Given the description of an element on the screen output the (x, y) to click on. 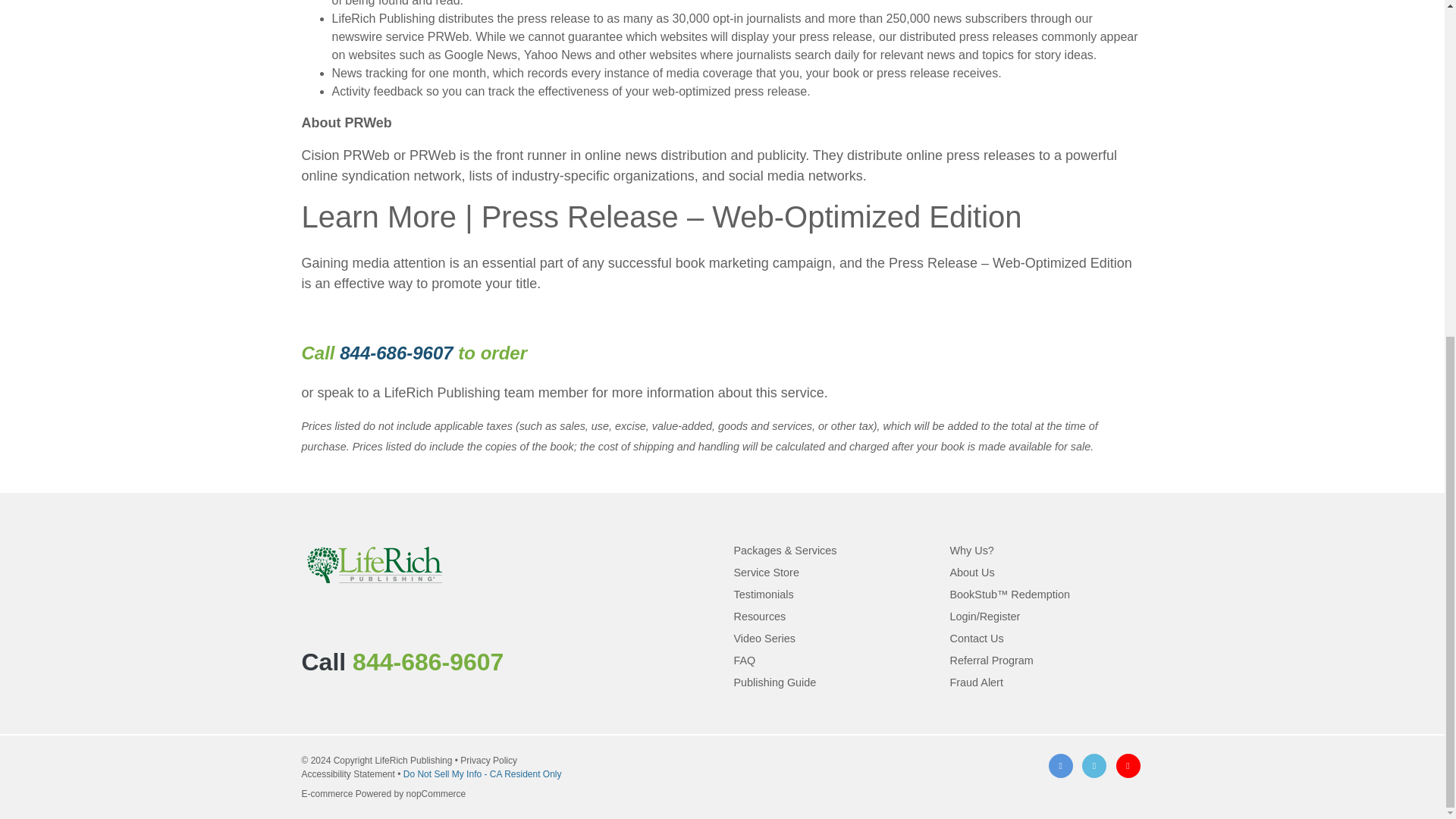
Video Series (763, 638)
Resources (759, 616)
LifeRich Publishing on Twitter (1093, 765)
Accessibility Statement (347, 774)
FAQ (744, 660)
Testimonials (763, 594)
Privacy Policy (488, 760)
LifeRich Publishing on Facebook (1060, 765)
Publishing Guide (774, 682)
LifeRich Publishing on YouTube (1128, 765)
